Given the description of an element on the screen output the (x, y) to click on. 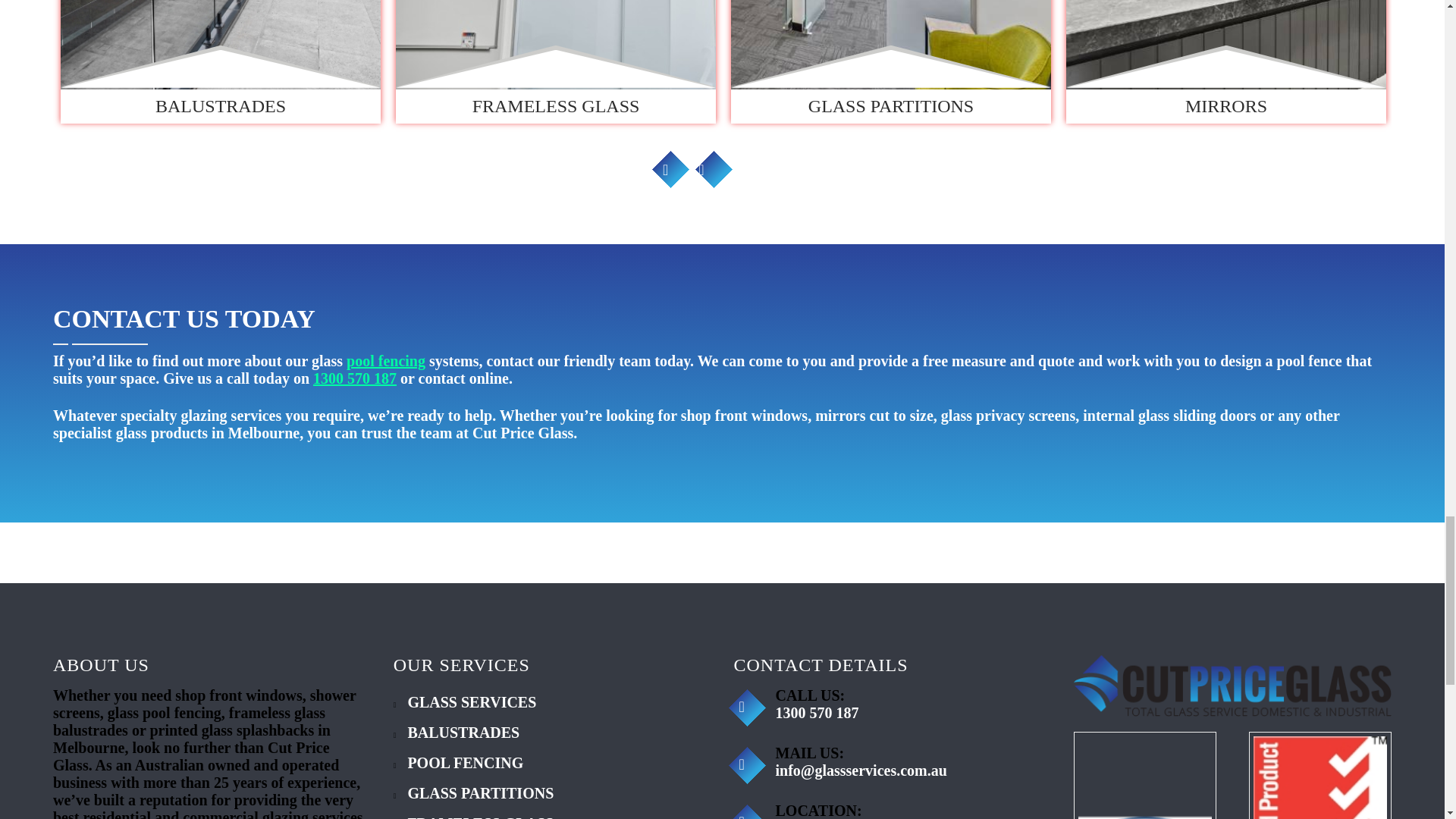
Glass Pool Fencing (385, 360)
MIRRORS (1225, 61)
FRAMELESS GLASS (556, 61)
BALUSTRADES (220, 61)
GLASS PARTITIONS (890, 61)
